Given the description of an element on the screen output the (x, y) to click on. 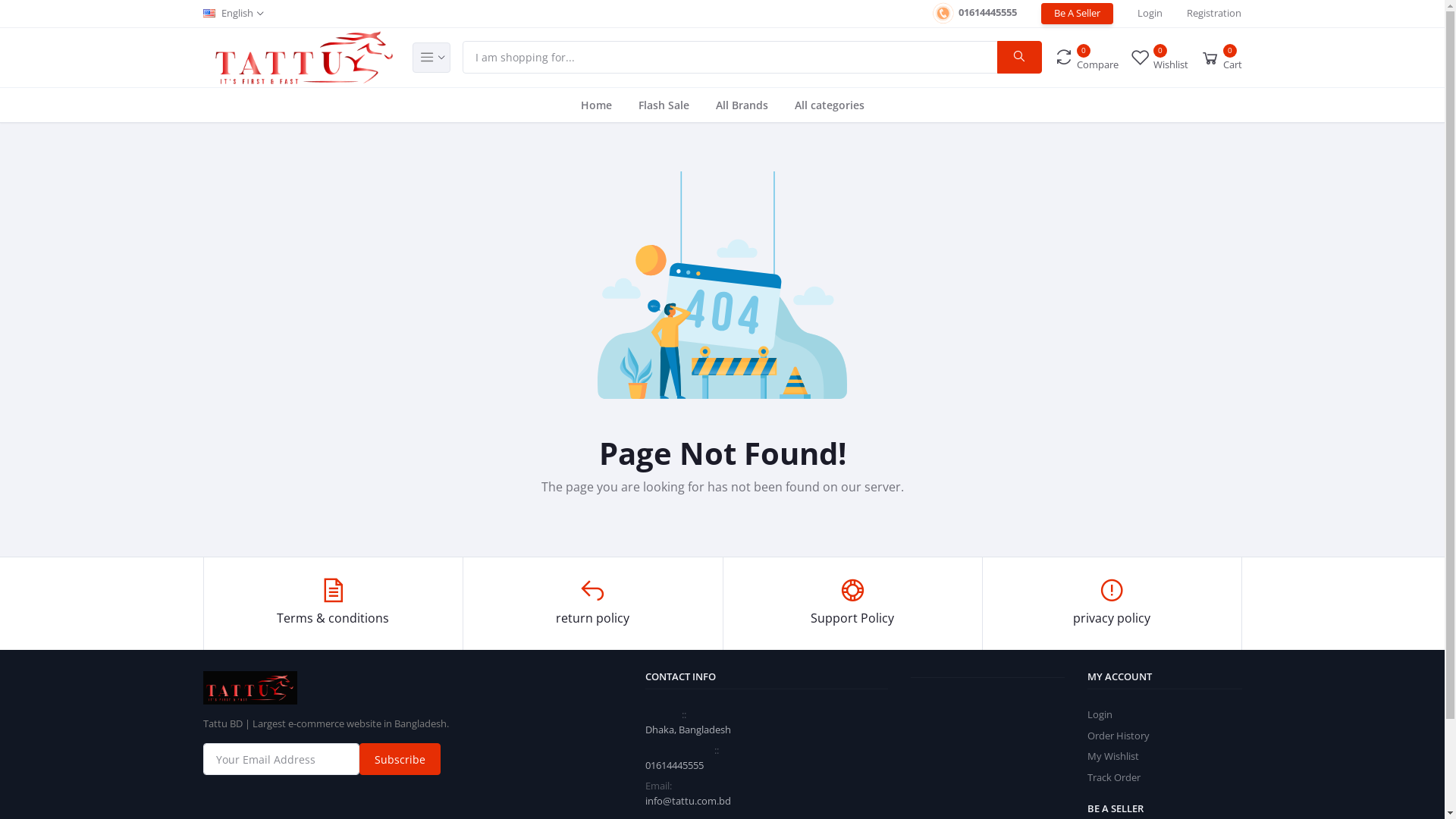
info@tattu.com.bd Element type: text (688, 800)
Be A Seller Element type: text (1077, 13)
All Brands Element type: text (741, 105)
01614445555 Element type: text (972, 13)
Order History Element type: text (1118, 735)
All categories Element type: text (829, 105)
return policy Element type: text (592, 602)
0
Compare Element type: text (1086, 57)
0
Wishlist Element type: text (1158, 57)
Support Policy Element type: text (851, 602)
Registration Element type: text (1213, 13)
privacy policy Element type: text (1112, 602)
My Wishlist Element type: text (1113, 755)
English Element type: text (233, 13)
Login Element type: text (1099, 714)
Track Order Element type: text (1113, 777)
Subscribe Element type: text (399, 759)
Home Element type: text (596, 105)
Flash Sale Element type: text (663, 105)
Terms & conditions Element type: text (333, 602)
0
Cart Element type: text (1220, 56)
Login Element type: text (1149, 13)
